Given the description of an element on the screen output the (x, y) to click on. 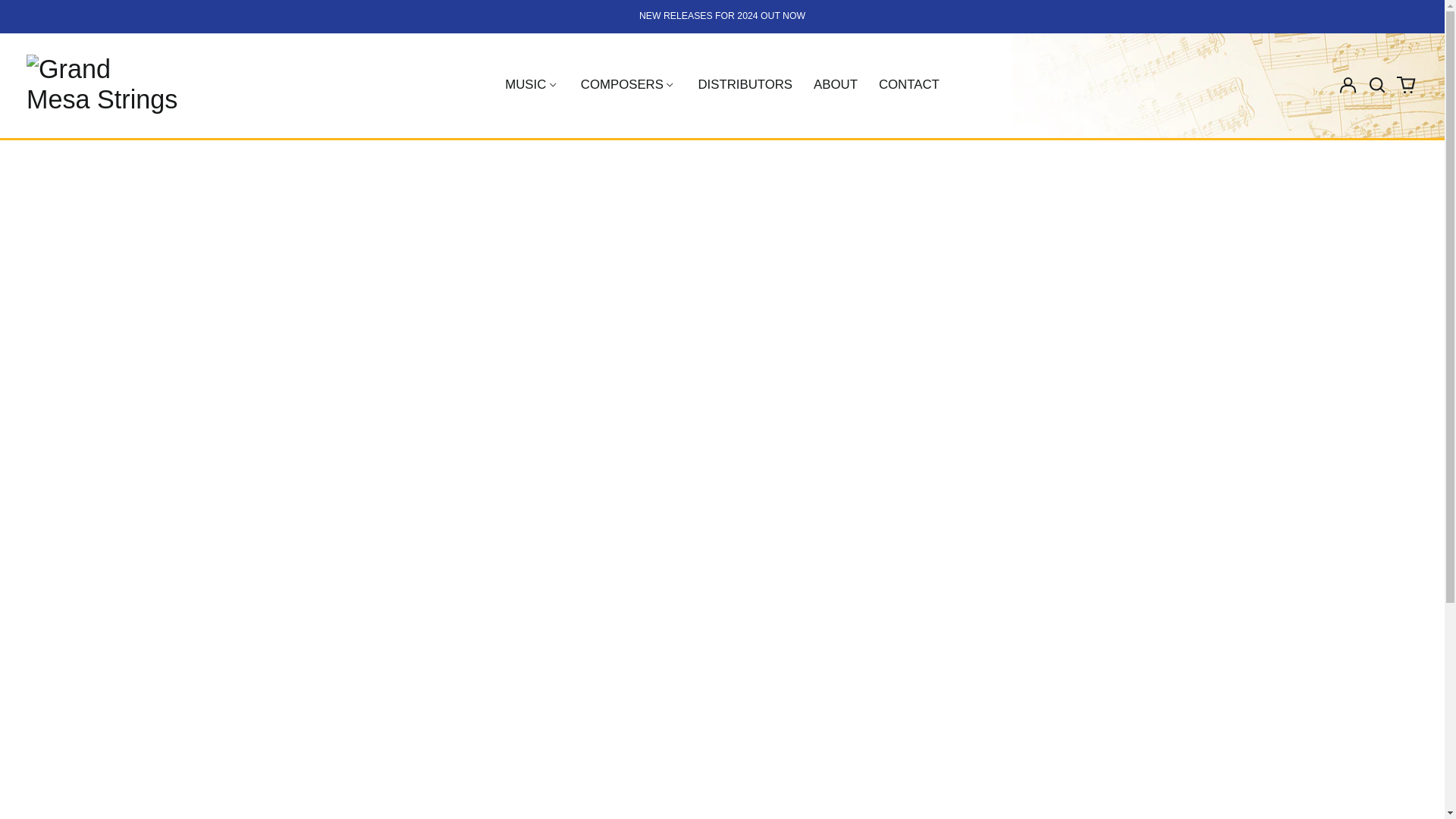
ABOUT (835, 84)
MUSIC (532, 84)
DISTRIBUTORS (745, 84)
COMPOSERS (628, 84)
CONTACT (908, 84)
Search our site (1377, 84)
Log in (1347, 84)
